Given the description of an element on the screen output the (x, y) to click on. 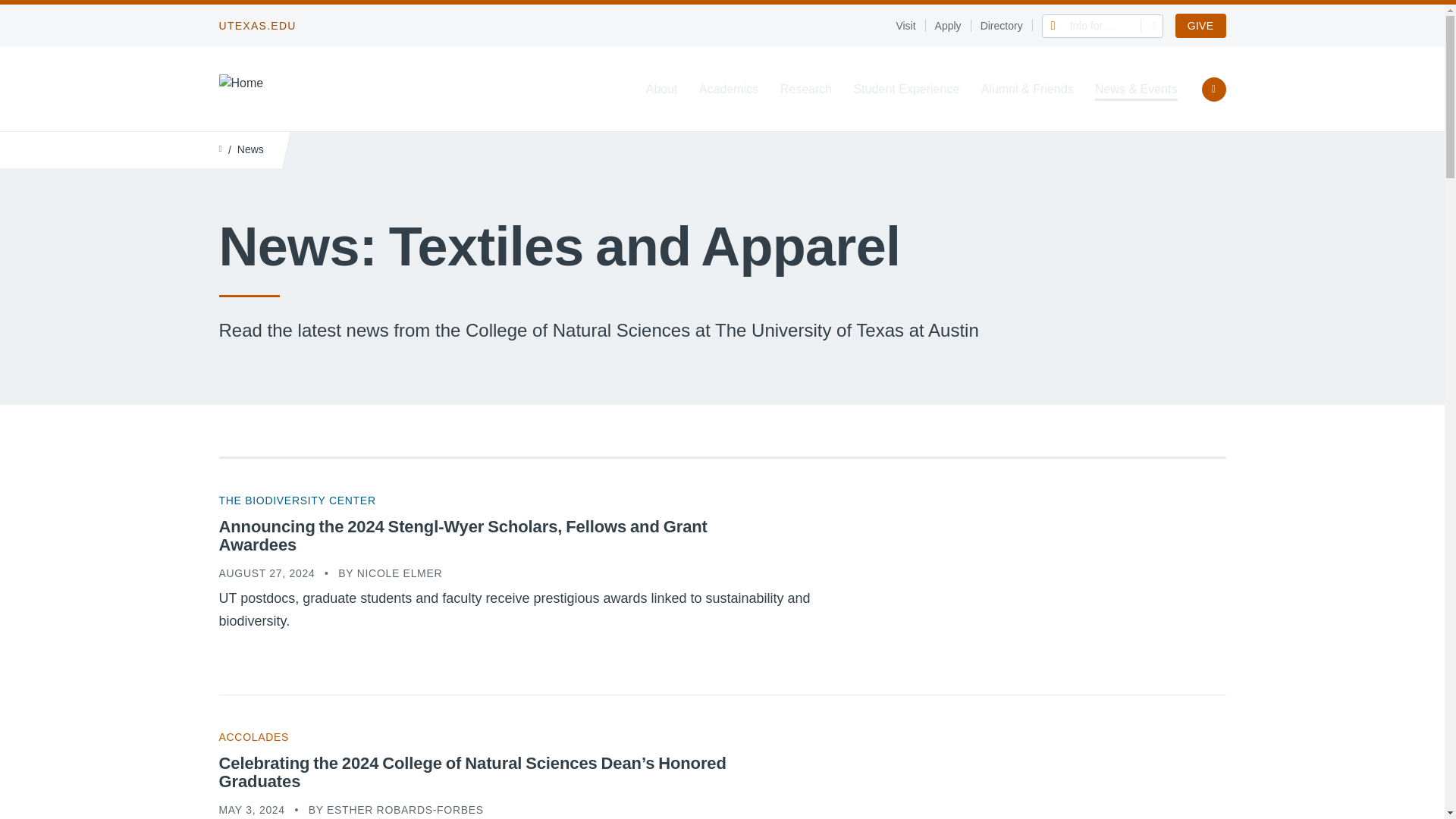
Academics (728, 90)
Research (805, 90)
GIVE (1199, 25)
Directory (1005, 25)
Student Experience (906, 90)
Apply (952, 25)
About (662, 90)
Visit (909, 25)
Info for ... (1102, 24)
UTEXAS.EDU (256, 26)
